Given the description of an element on the screen output the (x, y) to click on. 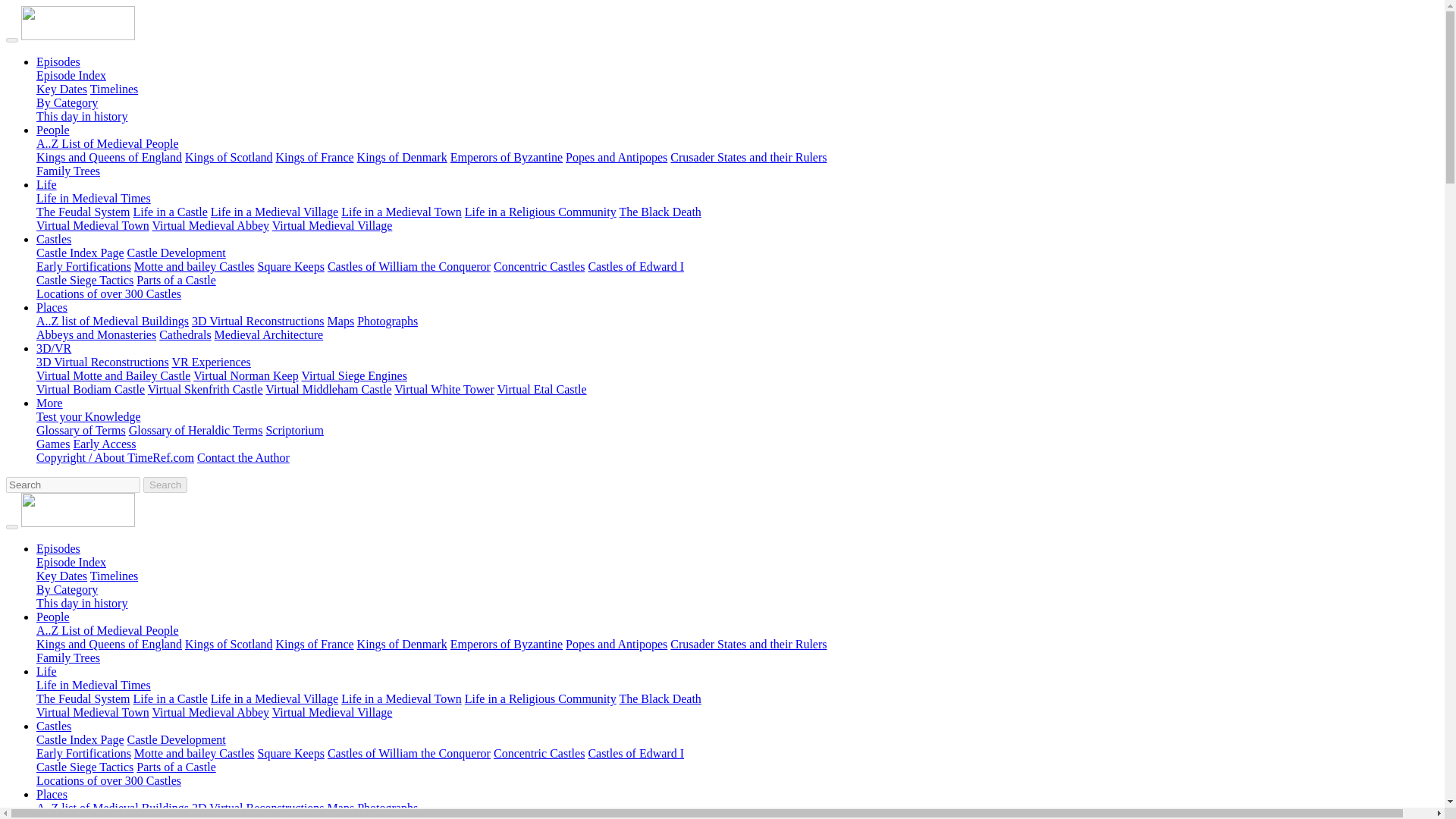
Life in a Castle (170, 211)
By Category (66, 102)
TimeRef.com home page (78, 35)
Castles (53, 238)
Episodes (58, 61)
Castle Development (176, 252)
The Black Death (659, 211)
Kings of France (314, 156)
This day in history (82, 115)
TimeRef.com home page (78, 522)
Episode Index (71, 74)
Life in a Medieval Town (400, 211)
Kings of Scotland (228, 156)
Castles of William the Conqueror (408, 266)
Life in a Religious Community (539, 211)
